Given the description of an element on the screen output the (x, y) to click on. 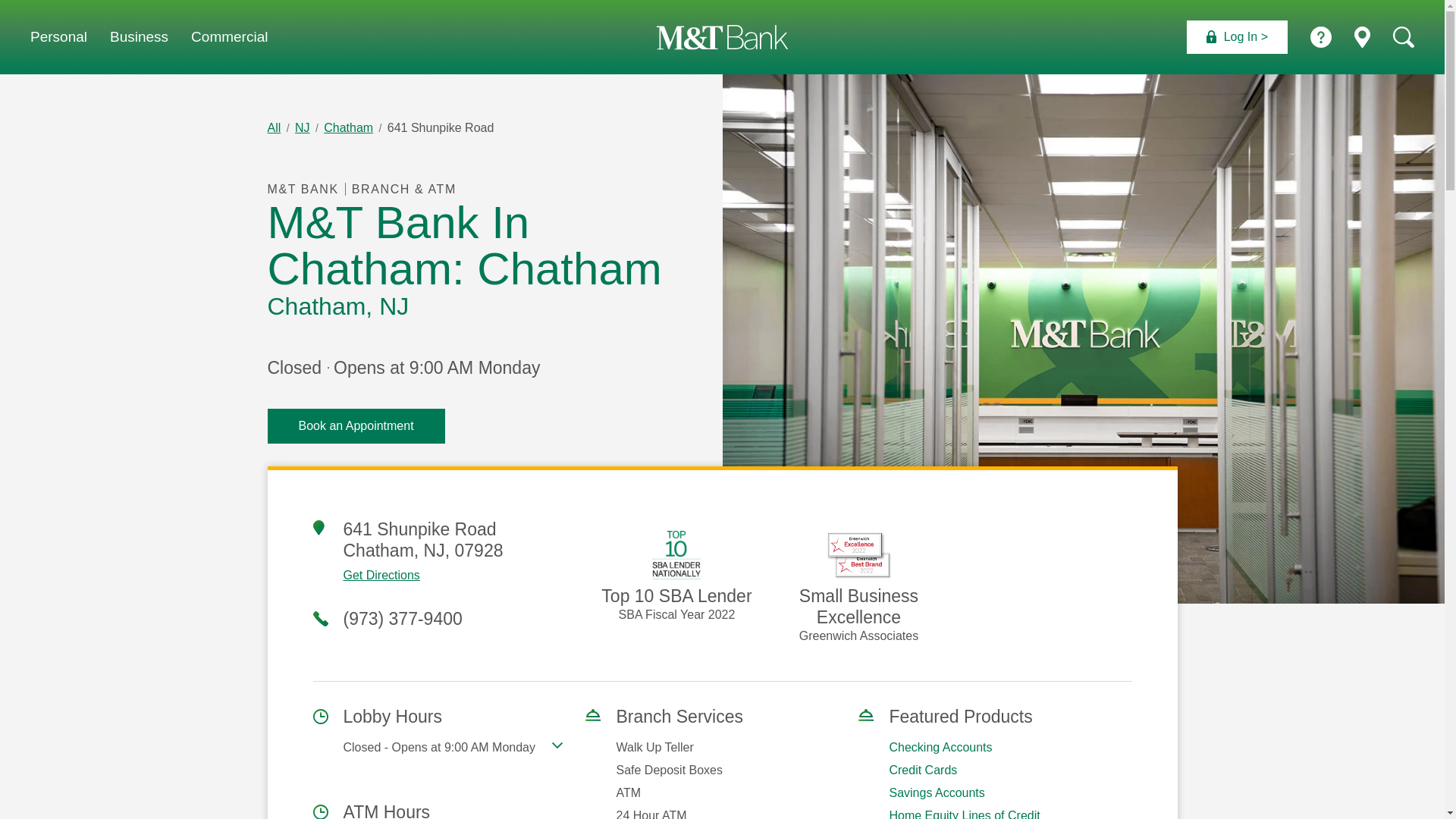
Home Equity Lines of Credit (963, 814)
Closed - Opens at 9:00 AM Monday (452, 747)
Book an Appointment (355, 425)
Savings Accounts (936, 792)
Checking Accounts (939, 747)
Business (139, 36)
All (273, 127)
Link to main website (722, 36)
Credit Cards (922, 769)
Chatham (347, 127)
NJ (302, 127)
Commercial (449, 575)
Personal (228, 36)
Log In (58, 36)
